Given the description of an element on the screen output the (x, y) to click on. 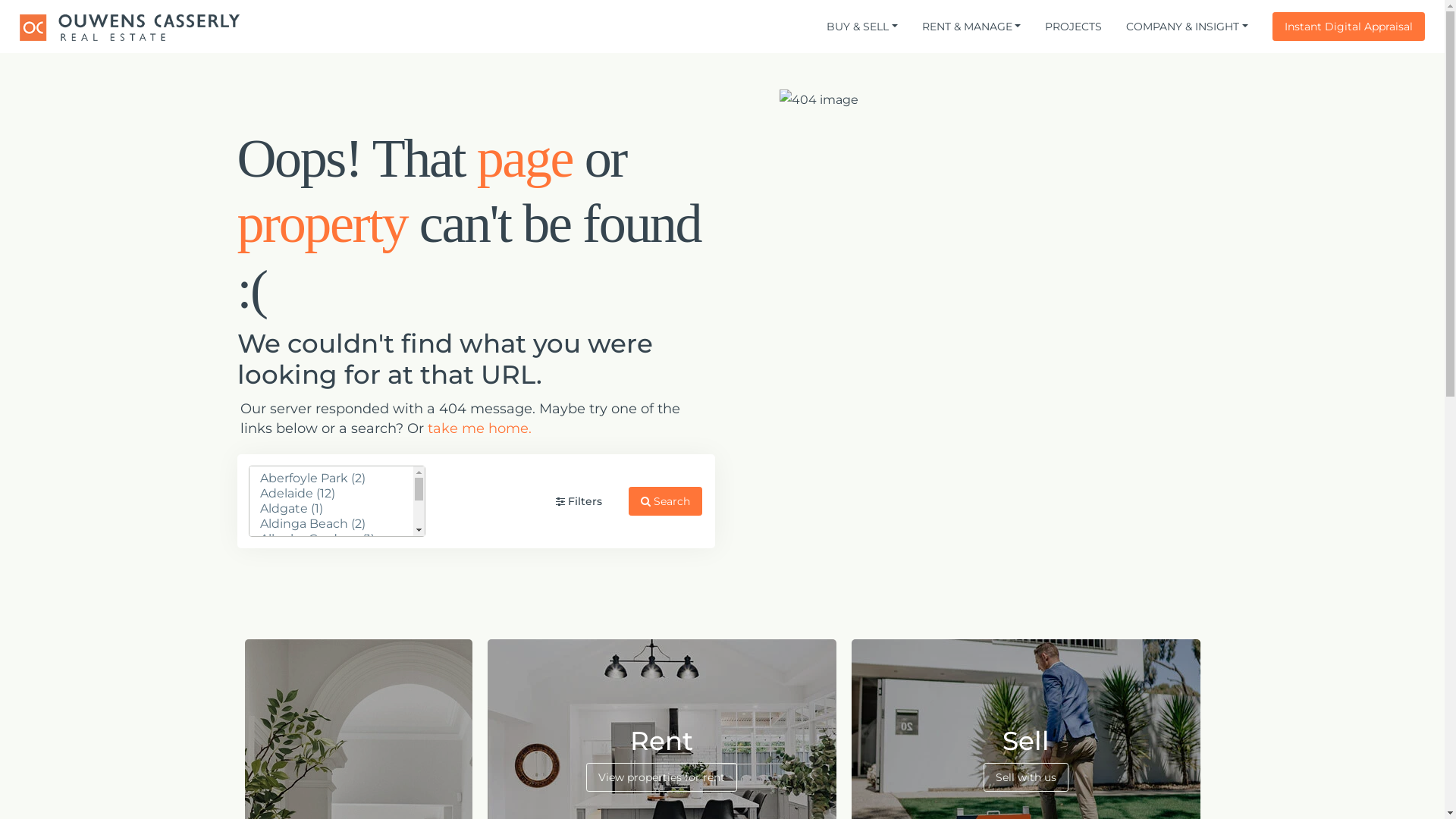
Search Element type: text (664, 500)
Filters Element type: text (578, 500)
Instant Digital Appraisal Element type: text (1348, 26)
PROJECTS Element type: text (1072, 26)
Sell with us Element type: text (1024, 776)
RENT & MANAGE Element type: text (971, 26)
take me home. Element type: text (479, 428)
View properties for rent Element type: text (661, 776)
COMPANY & INSIGHT Element type: text (1187, 26)
BUY & SELL Element type: text (861, 26)
